Given the description of an element on the screen output the (x, y) to click on. 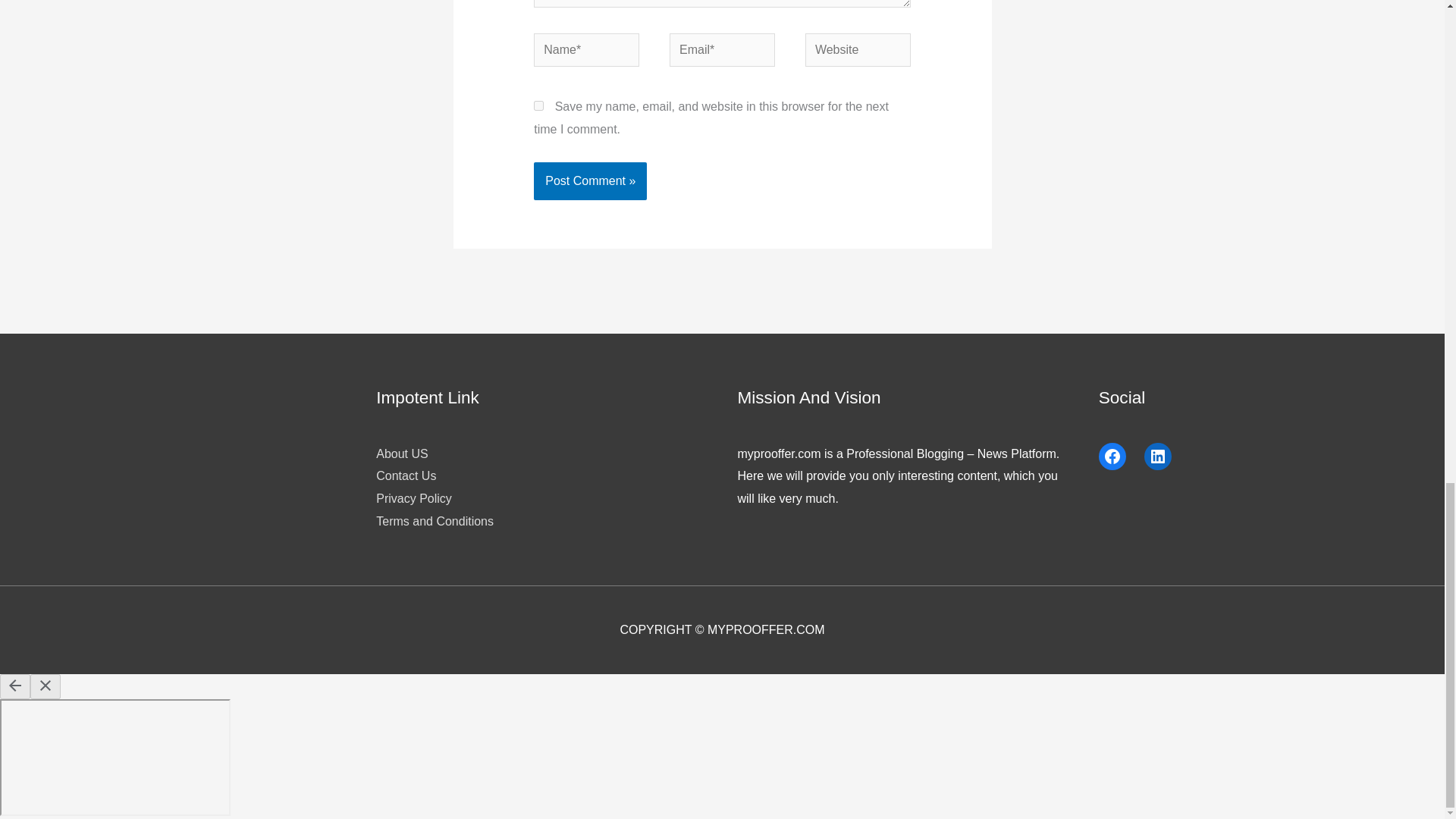
Facebook (1112, 456)
yes (538, 105)
LinkedIn (1158, 456)
Contact Us (405, 475)
Privacy Policy (413, 498)
About US (401, 453)
Terms and Conditions (434, 521)
